Given the description of an element on the screen output the (x, y) to click on. 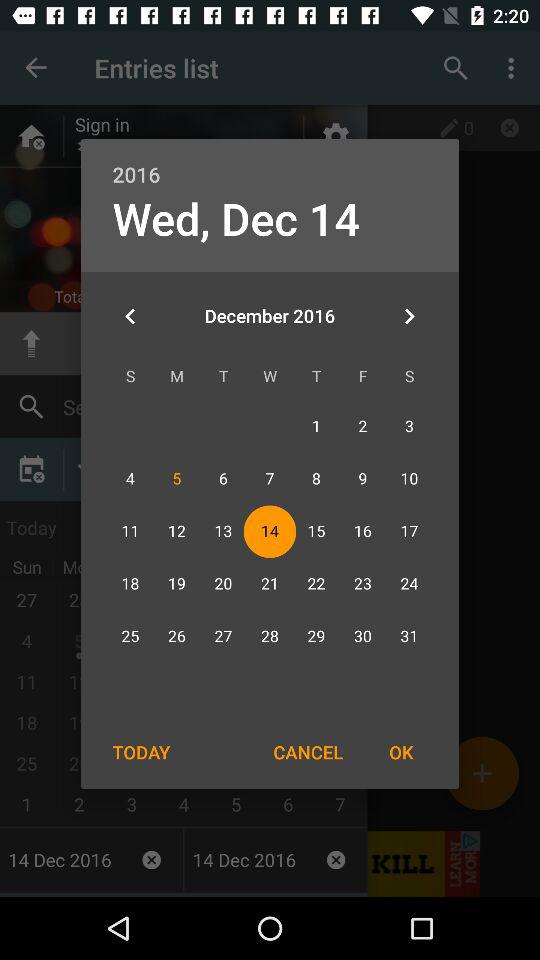
open the icon below the 2016 (408, 316)
